Given the description of an element on the screen output the (x, y) to click on. 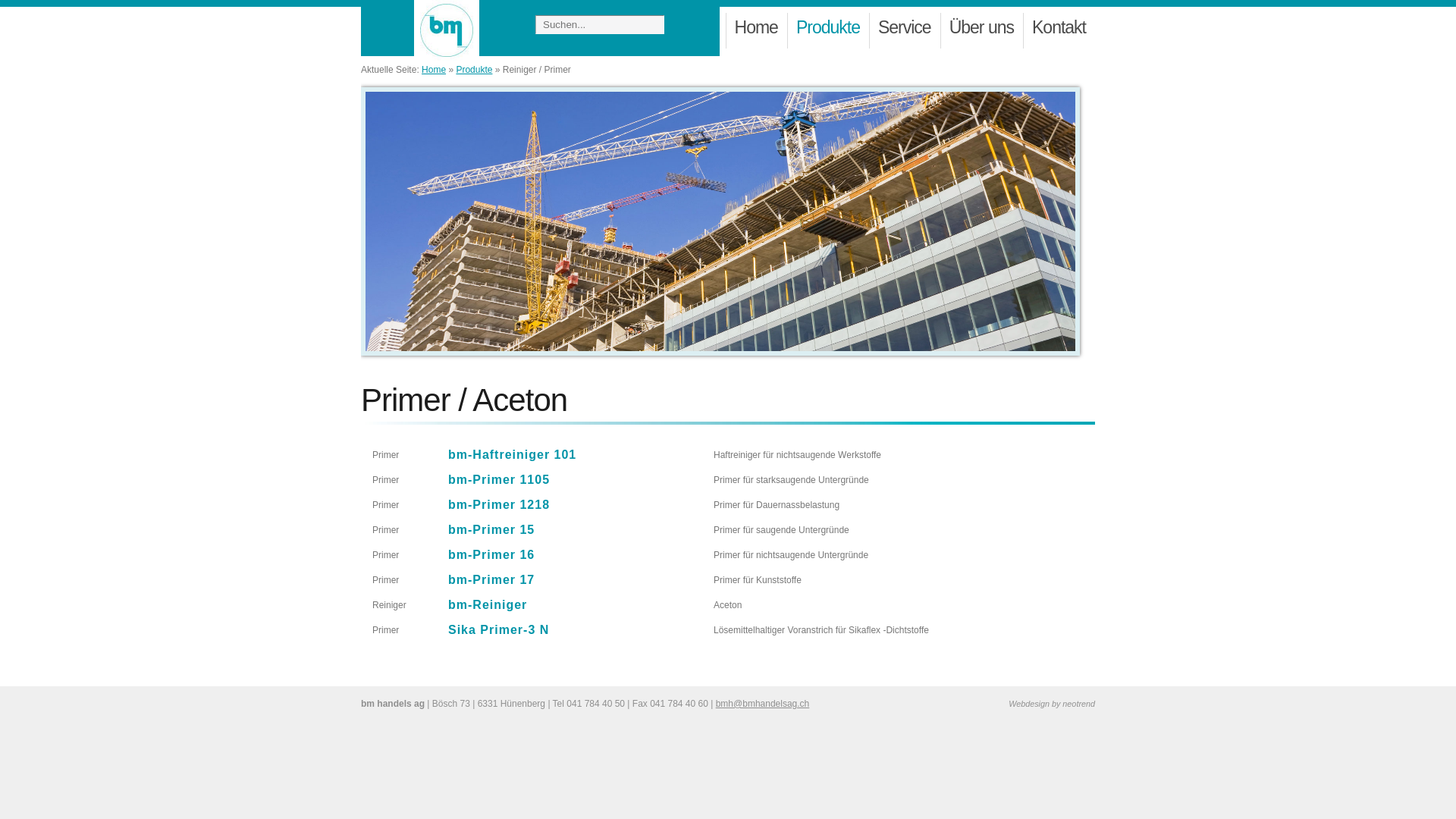
Webdesign by neotrend Element type: text (1051, 703)
bm-Haftreiniger 101 Element type: text (512, 454)
Home Element type: text (756, 31)
Service Element type: text (904, 31)
Sika Primer-3 N Element type: text (498, 629)
bm-Reiniger Element type: text (487, 604)
Produkte Element type: text (473, 69)
Produkte Element type: text (828, 31)
Kontakt Element type: text (1058, 31)
bm-Primer 15 Element type: text (491, 529)
bm-Primer 1105 Element type: text (498, 479)
Home Element type: text (433, 69)
bm-Primer 1218 Element type: text (498, 504)
bmh@bmhandelsag.ch Element type: text (762, 703)
bm-Primer 16 Element type: text (491, 554)
bm-Primer 17 Element type: text (491, 579)
